Given the description of an element on the screen output the (x, y) to click on. 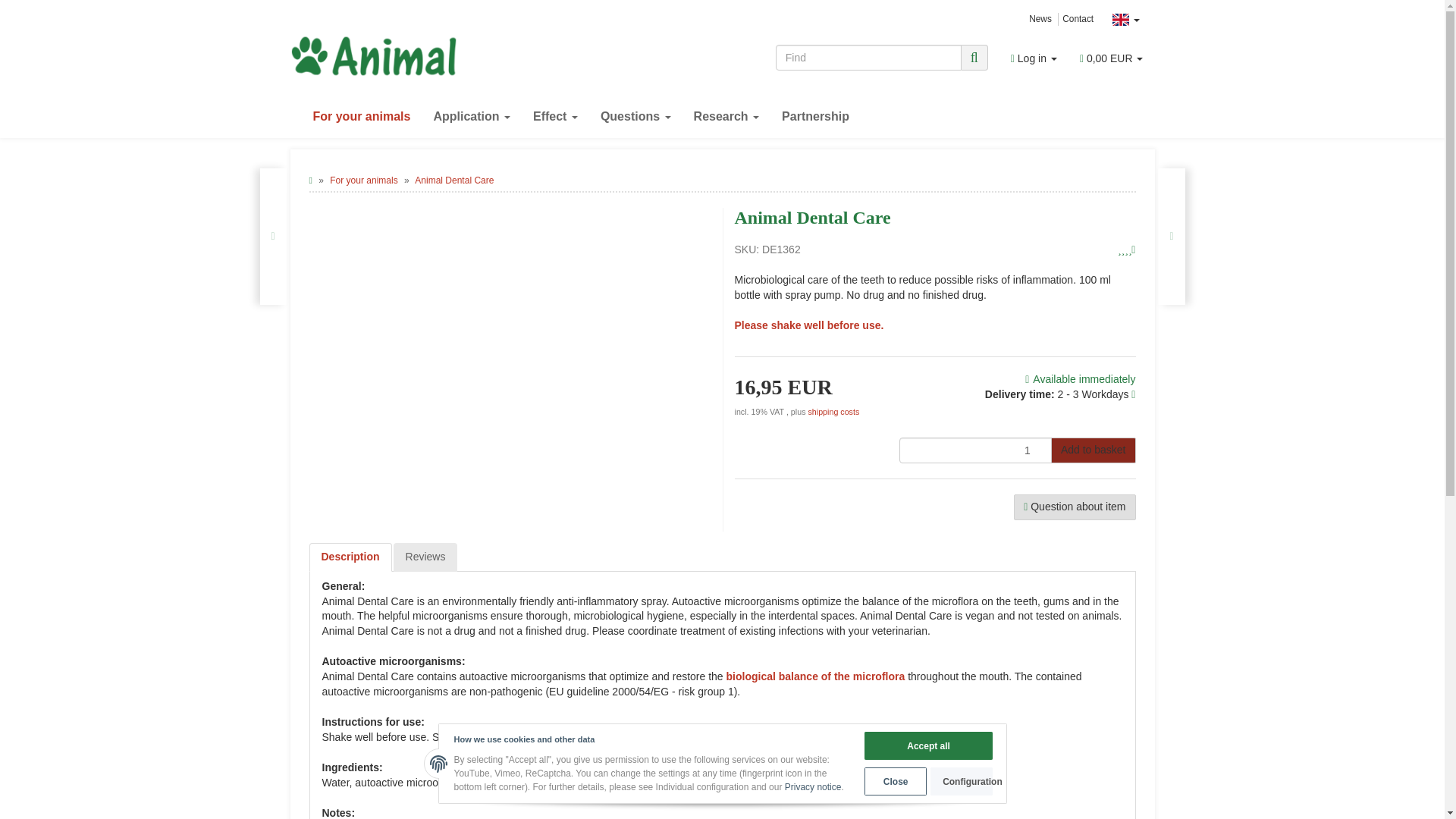
Contact (1077, 18)
For your animals (363, 180)
Application (471, 116)
News (1040, 18)
Log in (1033, 58)
Basket (1111, 58)
1 (975, 450)
Please select a language. (1125, 19)
News (1040, 18)
Animal (425, 55)
Log in (1033, 58)
Effect (555, 116)
For your animals (361, 116)
Animal Dental Care (453, 180)
Questions (635, 116)
